Given the description of an element on the screen output the (x, y) to click on. 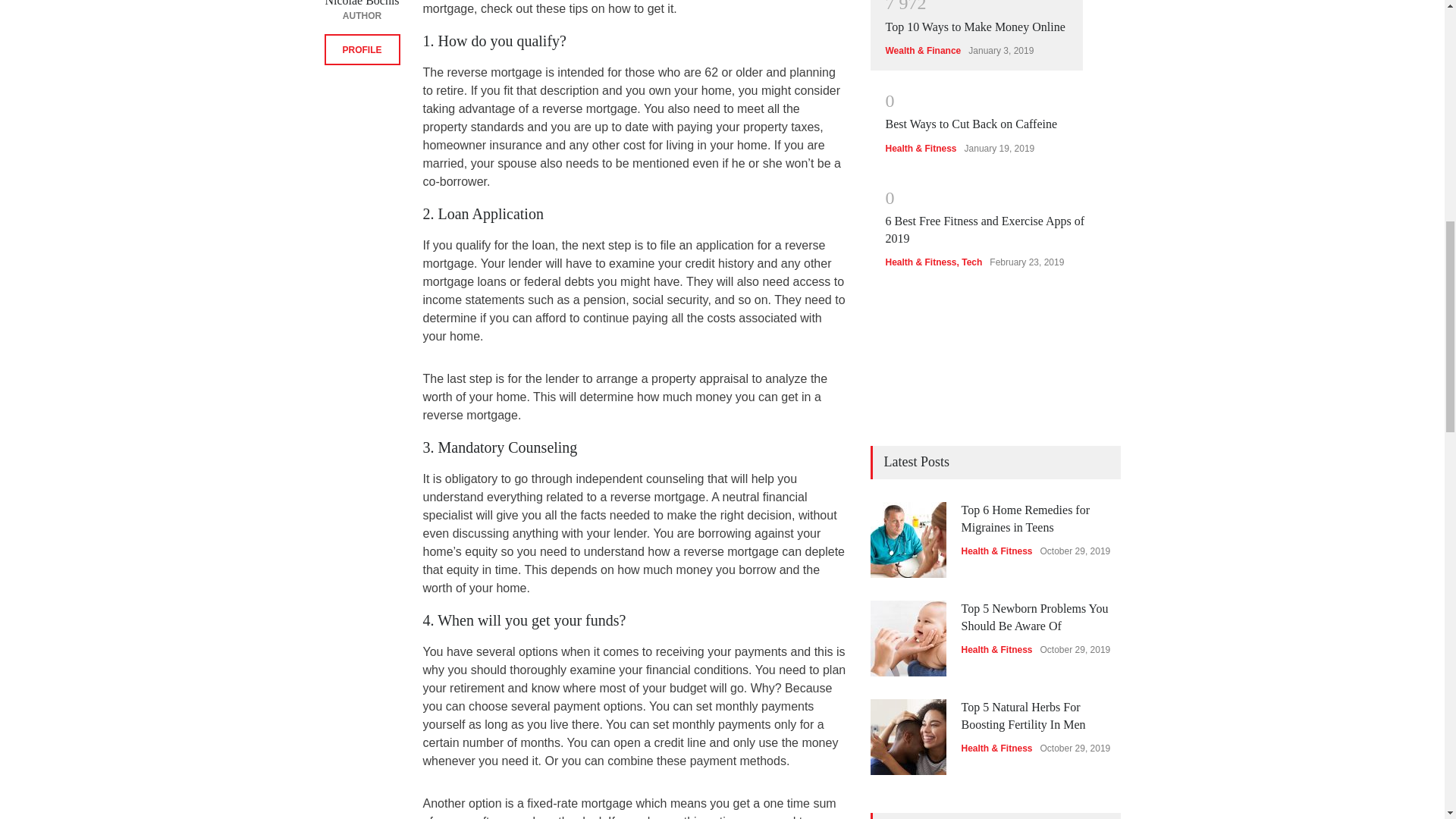
PROFILE (362, 49)
Nicolae Bochis (361, 3)
Nicolae Bochis (361, 3)
